Given the description of an element on the screen output the (x, y) to click on. 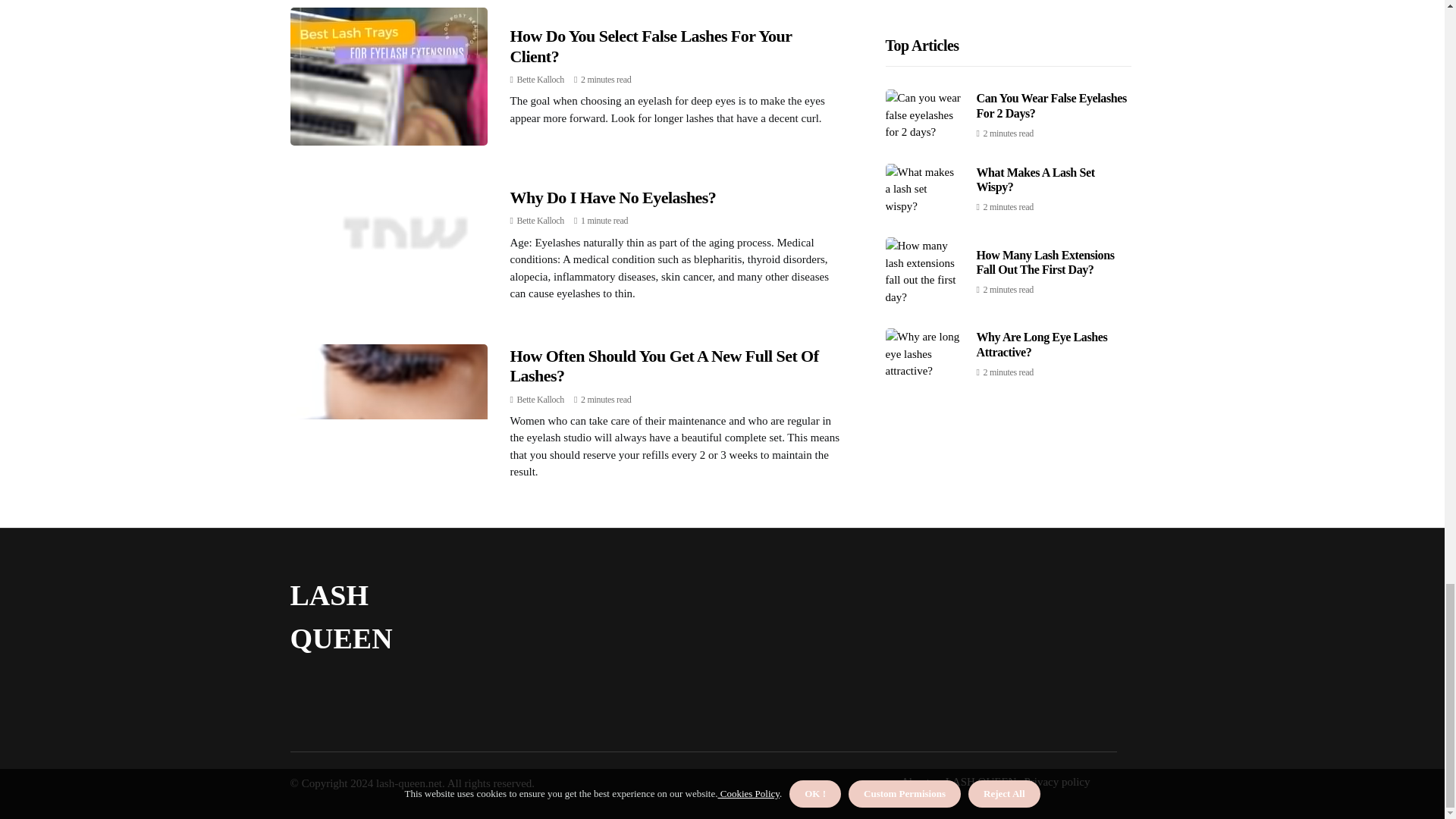
How Often Should You Get A New Full Set Of Lashes? (663, 365)
Why Do I Have No Eyelashes? (612, 197)
Bette Kalloch (540, 398)
Posts by Bette Kalloch (540, 398)
Bette Kalloch (540, 79)
How Do You Select False Lashes For Your Client? (650, 45)
Posts by Bette Kalloch (540, 79)
Posts by Bette Kalloch (540, 220)
Bette Kalloch (540, 220)
